Given the description of an element on the screen output the (x, y) to click on. 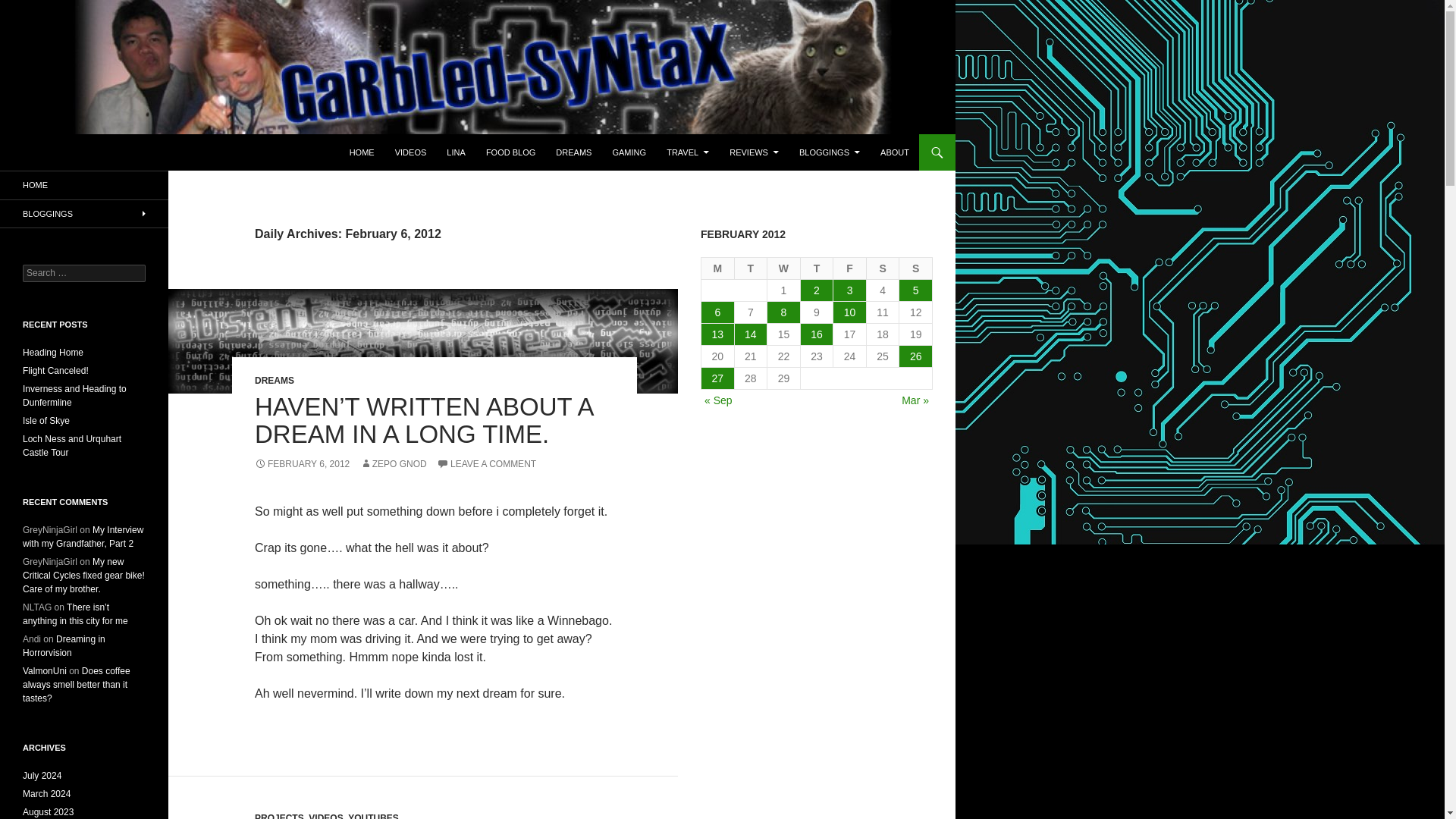
LINA (456, 152)
HOME (362, 152)
ABOUT (894, 152)
Wednesday (783, 268)
VIDEOS (410, 152)
REVIEWS (753, 152)
GarbledSyntax (71, 152)
DREAMS (274, 380)
